Given the description of an element on the screen output the (x, y) to click on. 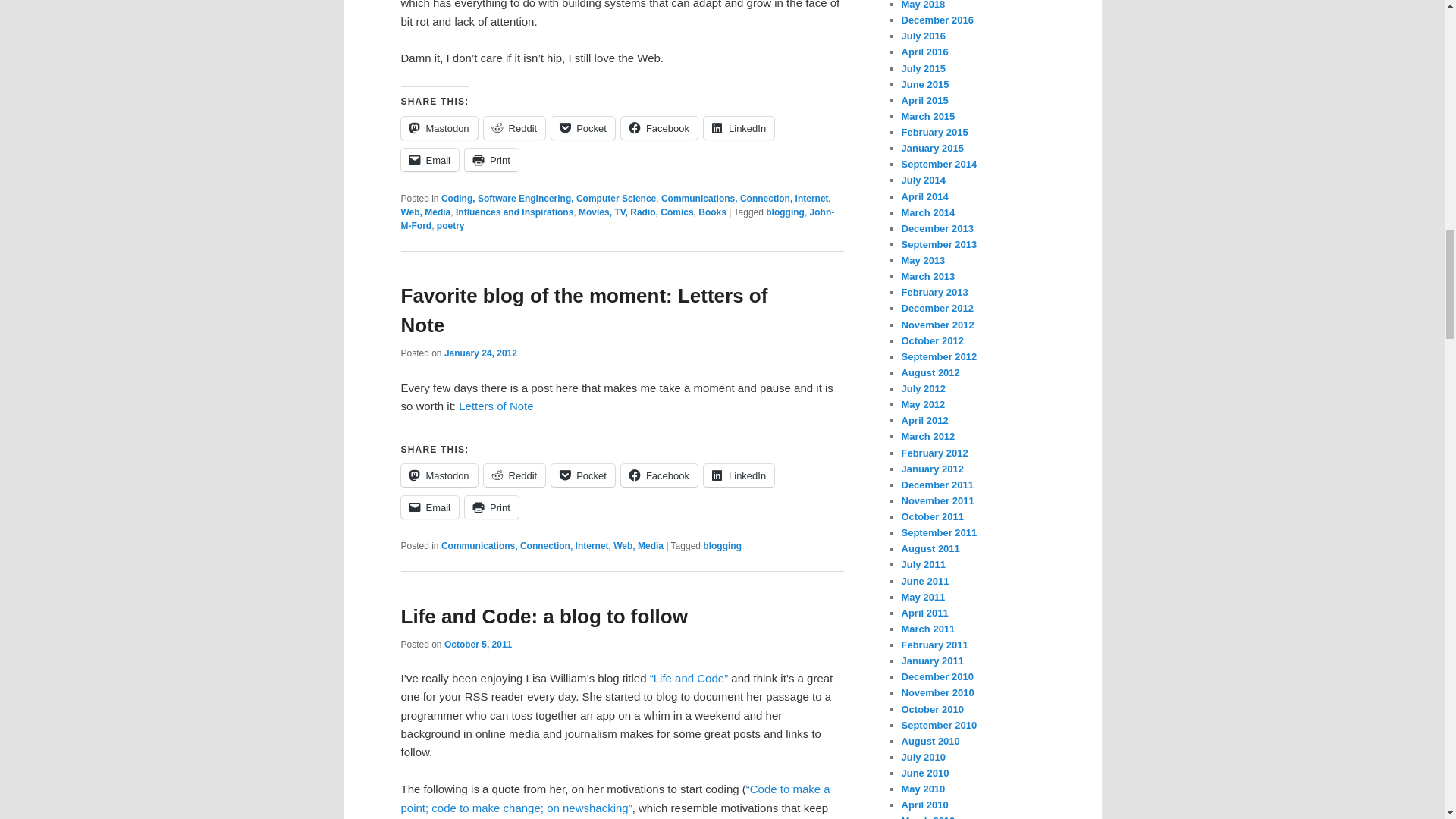
Click to share on Pocket (582, 128)
Reddit (514, 128)
Pocket (582, 128)
Click to share on Reddit (514, 128)
Click to share on Facebook (659, 128)
Facebook (659, 128)
Click to share on LinkedIn (738, 128)
Mastodon (438, 128)
LinkedIn (738, 128)
Click to share on Mastodon (438, 128)
